Given the description of an element on the screen output the (x, y) to click on. 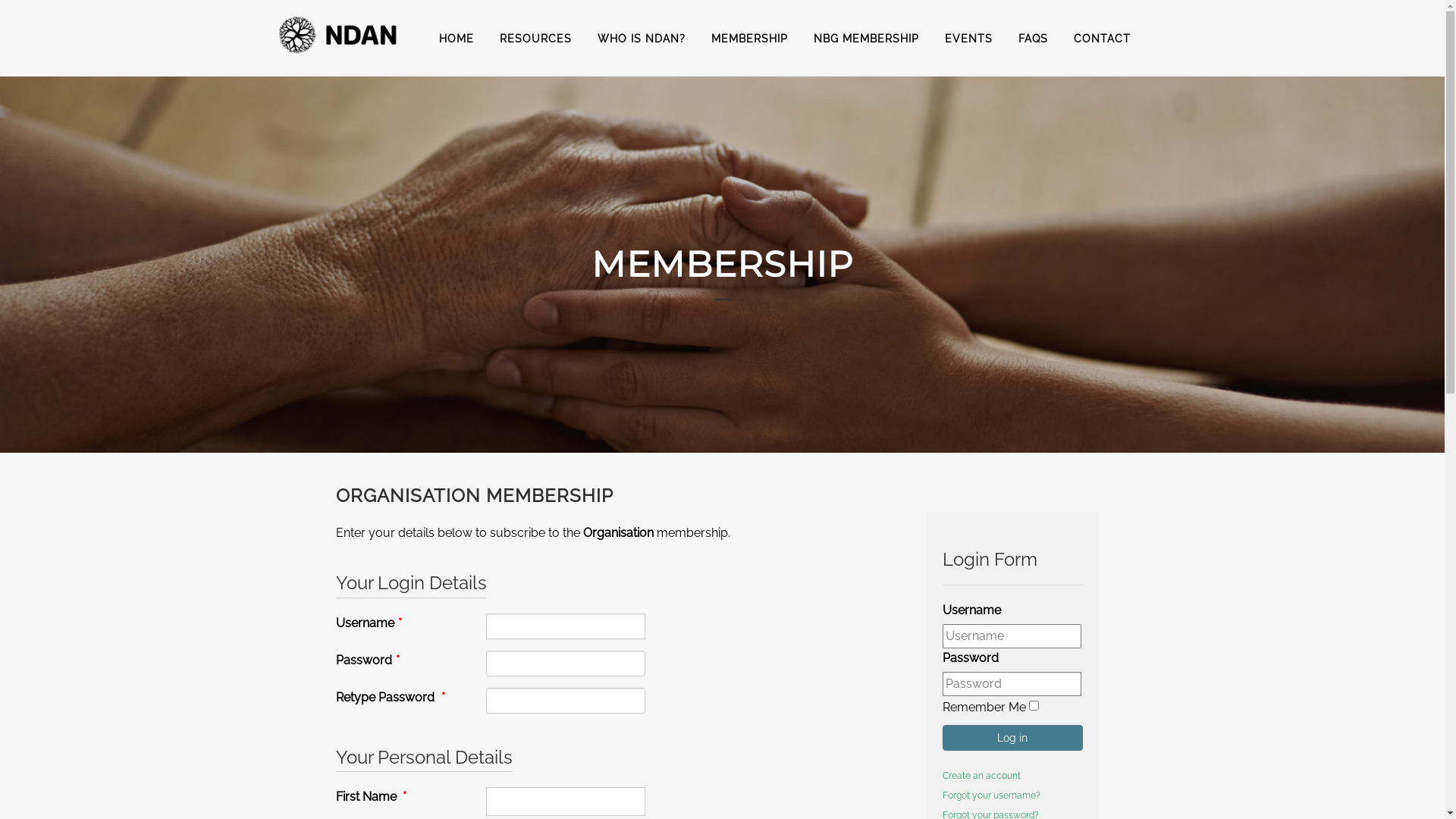
Forgot your username? Element type: text (990, 795)
HOME Element type: text (456, 38)
RESOURCES Element type: text (535, 38)
Log in Element type: text (1011, 737)
NBG MEMBERSHIP Element type: text (865, 38)
Create an account Element type: text (980, 775)
EVENTS Element type: text (967, 38)
CONTACT Element type: text (1101, 38)
WHO IS NDAN? Element type: text (640, 38)
MEMBERSHIP Element type: text (748, 38)
FAQS Element type: text (1032, 38)
